Given the description of an element on the screen output the (x, y) to click on. 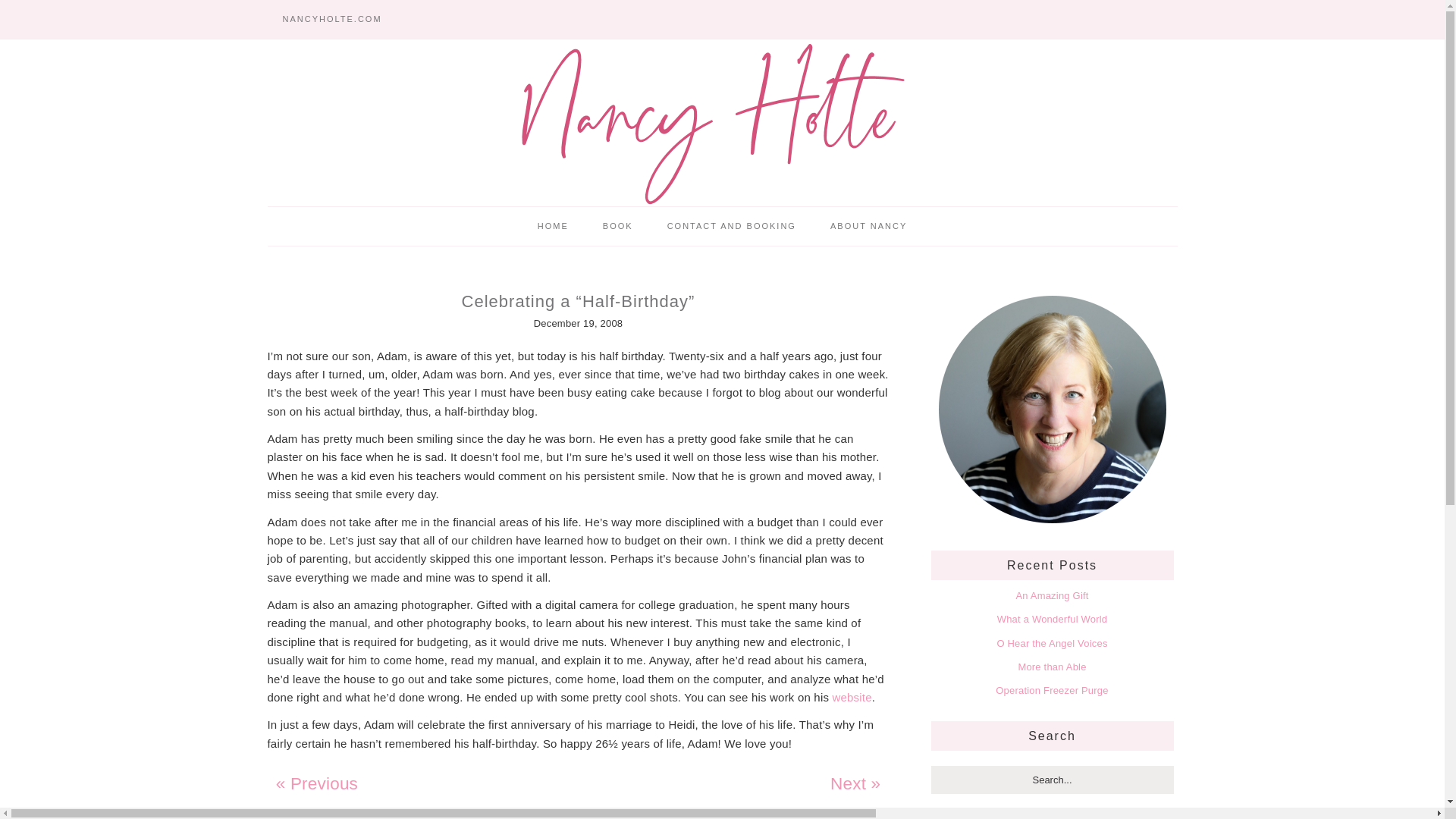
NANCYHOLTE.COM (331, 19)
CONTACT AND BOOKING (731, 226)
Operation Freezer Purge (1051, 690)
More than Able (1051, 666)
What a Wonderful World (1052, 618)
website (852, 697)
ABOUT NANCY (868, 226)
An Amazing Gift (1050, 595)
BOOK (617, 226)
HOME (552, 226)
O Hear the Angel Voices (1050, 643)
